Given the description of an element on the screen output the (x, y) to click on. 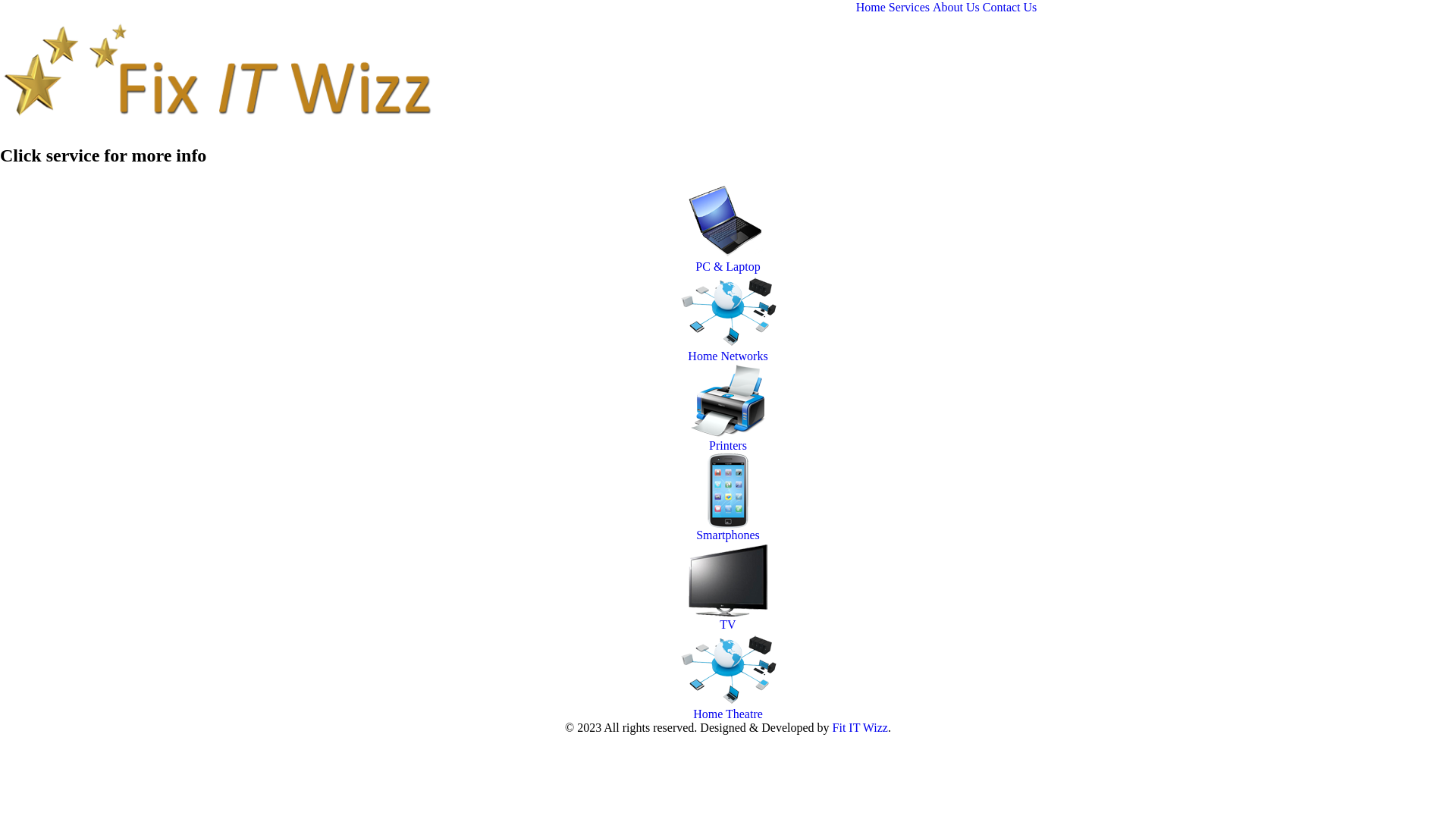
Printers Element type: text (727, 445)
About Us Element type: text (955, 7)
Smartphones Element type: text (727, 534)
TV Element type: text (727, 624)
Services Element type: text (908, 7)
Fit IT Wizz Element type: text (860, 727)
PC & Laptop Element type: text (727, 266)
Home Element type: text (870, 7)
Contact Us Element type: text (1009, 7)
Home Theatre Element type: text (727, 713)
Home Networks Element type: text (727, 355)
